Given the description of an element on the screen output the (x, y) to click on. 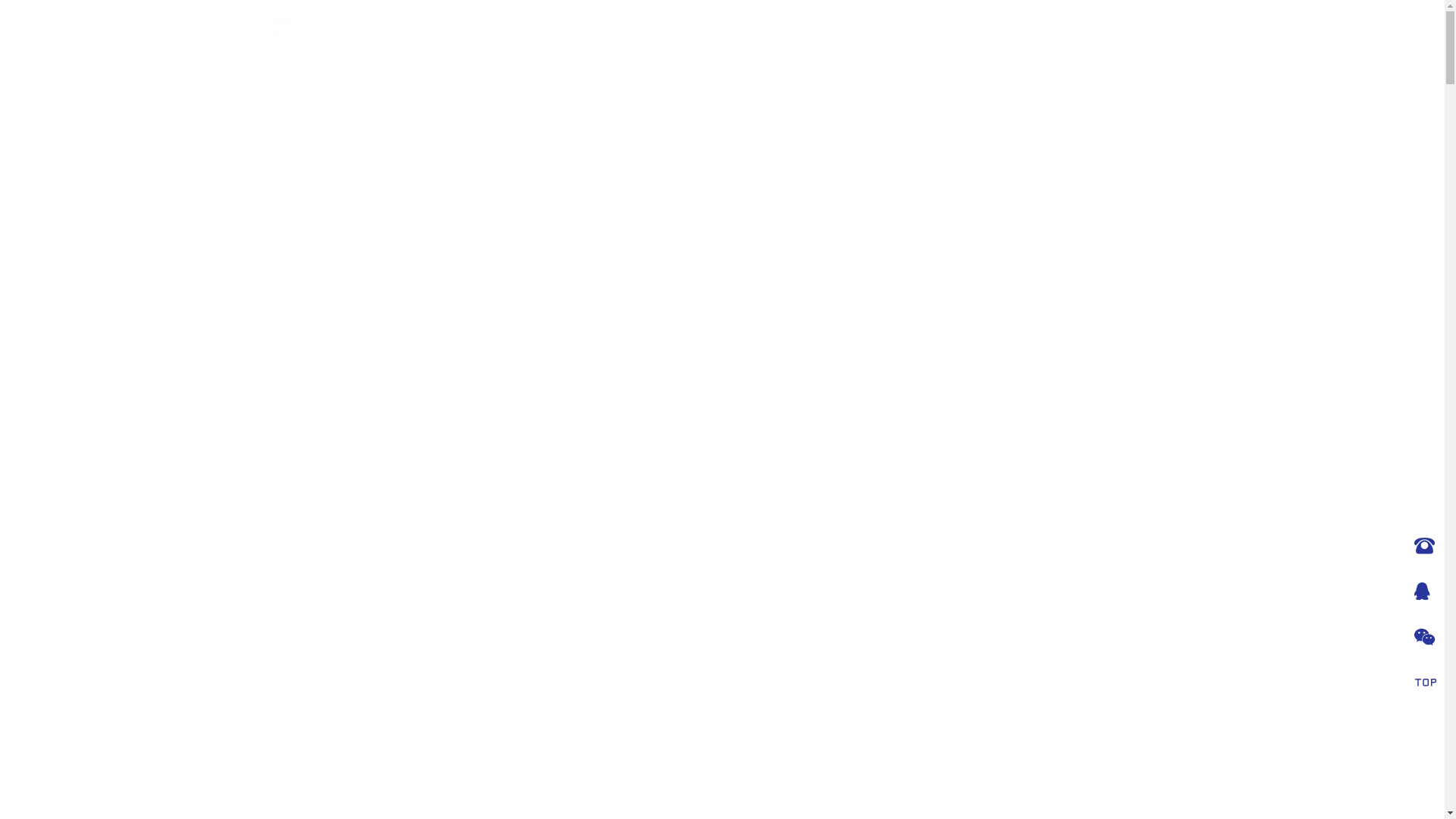
028-83556169  15982004057 Element type: text (1421, 545)
